Given the description of an element on the screen output the (x, y) to click on. 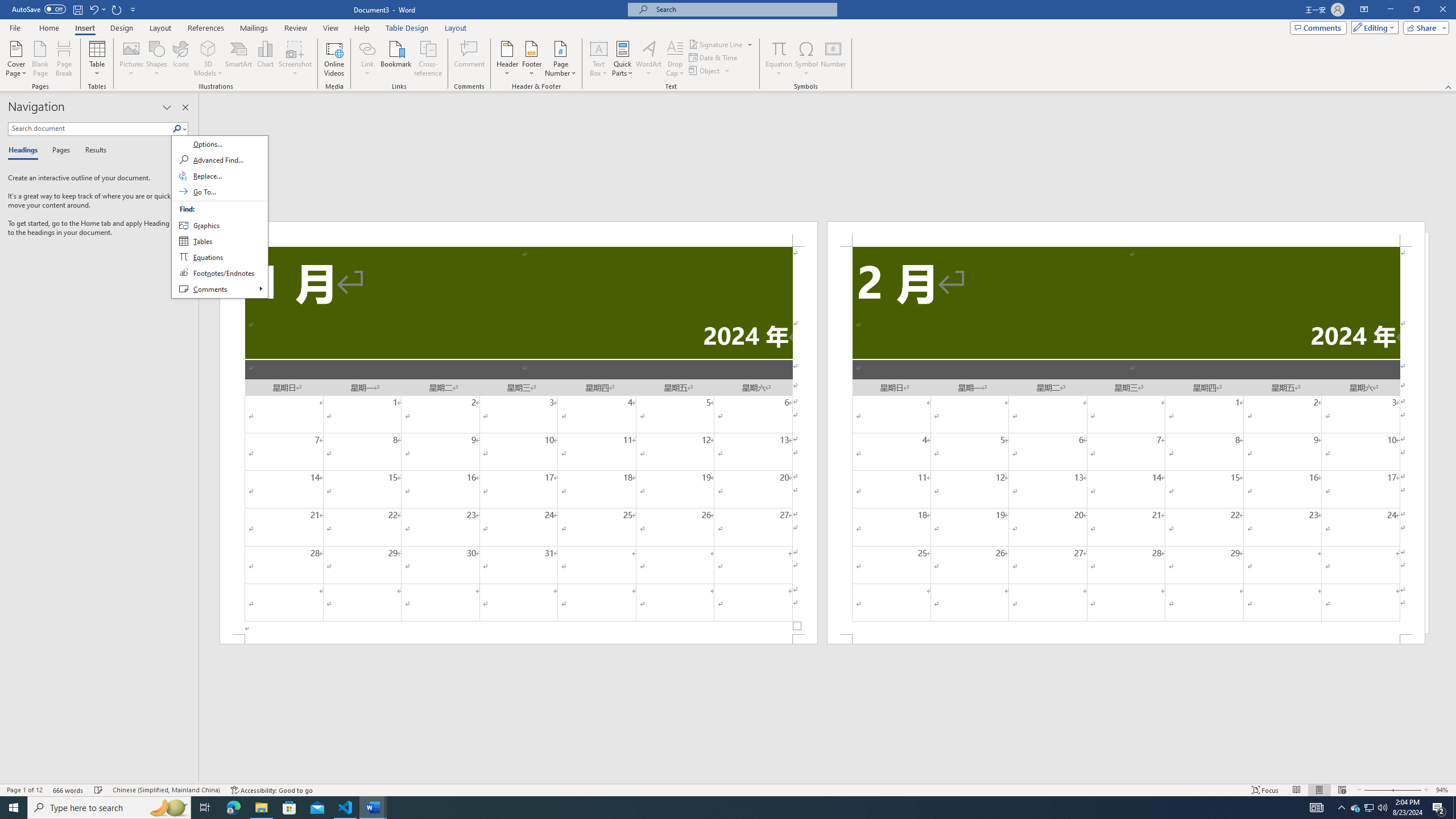
Page 2 content (1126, 439)
Online Videos... (333, 58)
Pictures (131, 58)
Object... (709, 69)
Drop Cap (674, 58)
Page Number (560, 58)
